Given the description of an element on the screen output the (x, y) to click on. 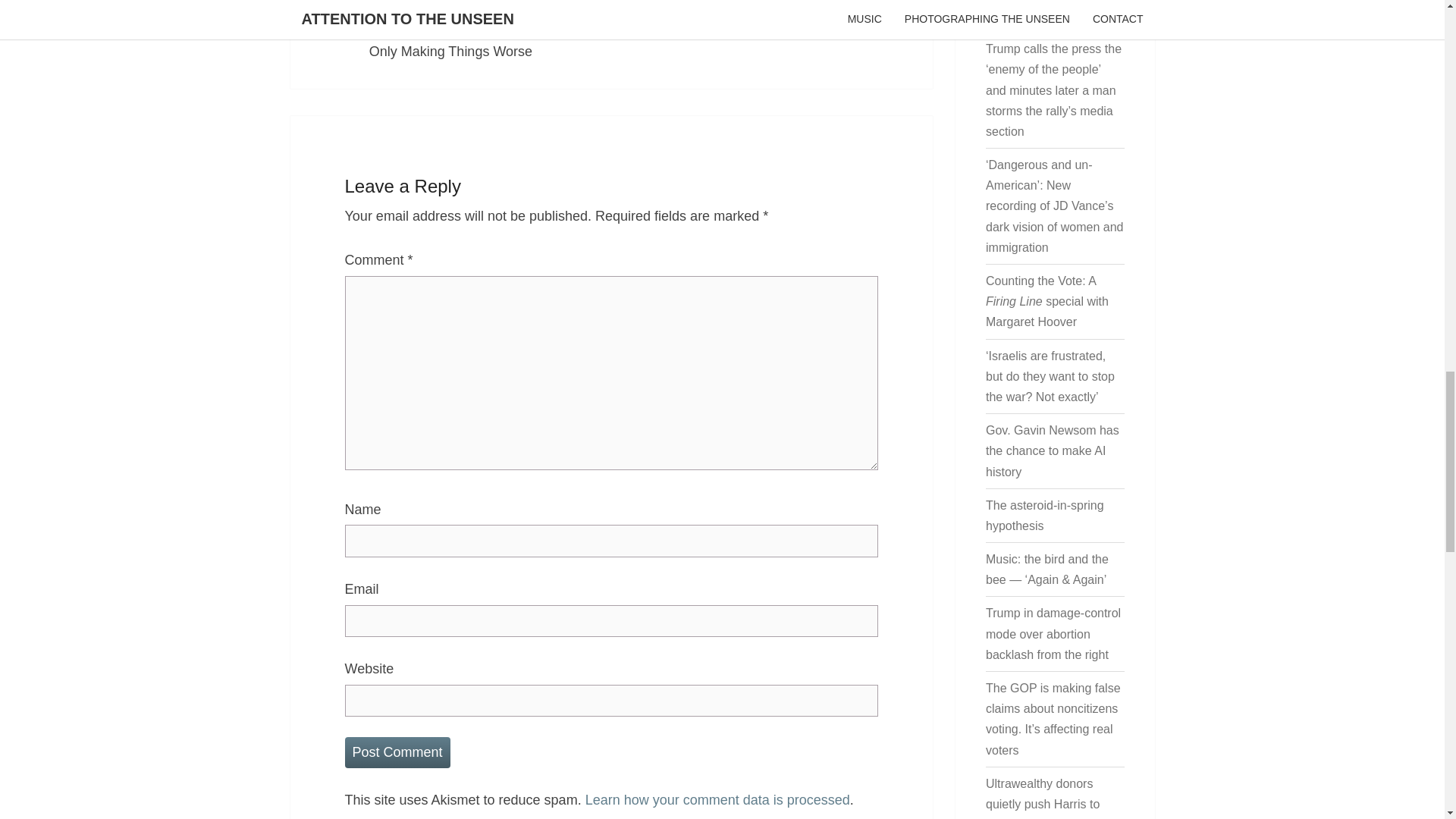
Post Comment (396, 752)
Learn how your comment data is processed (717, 799)
Post Comment (396, 752)
